Given the description of an element on the screen output the (x, y) to click on. 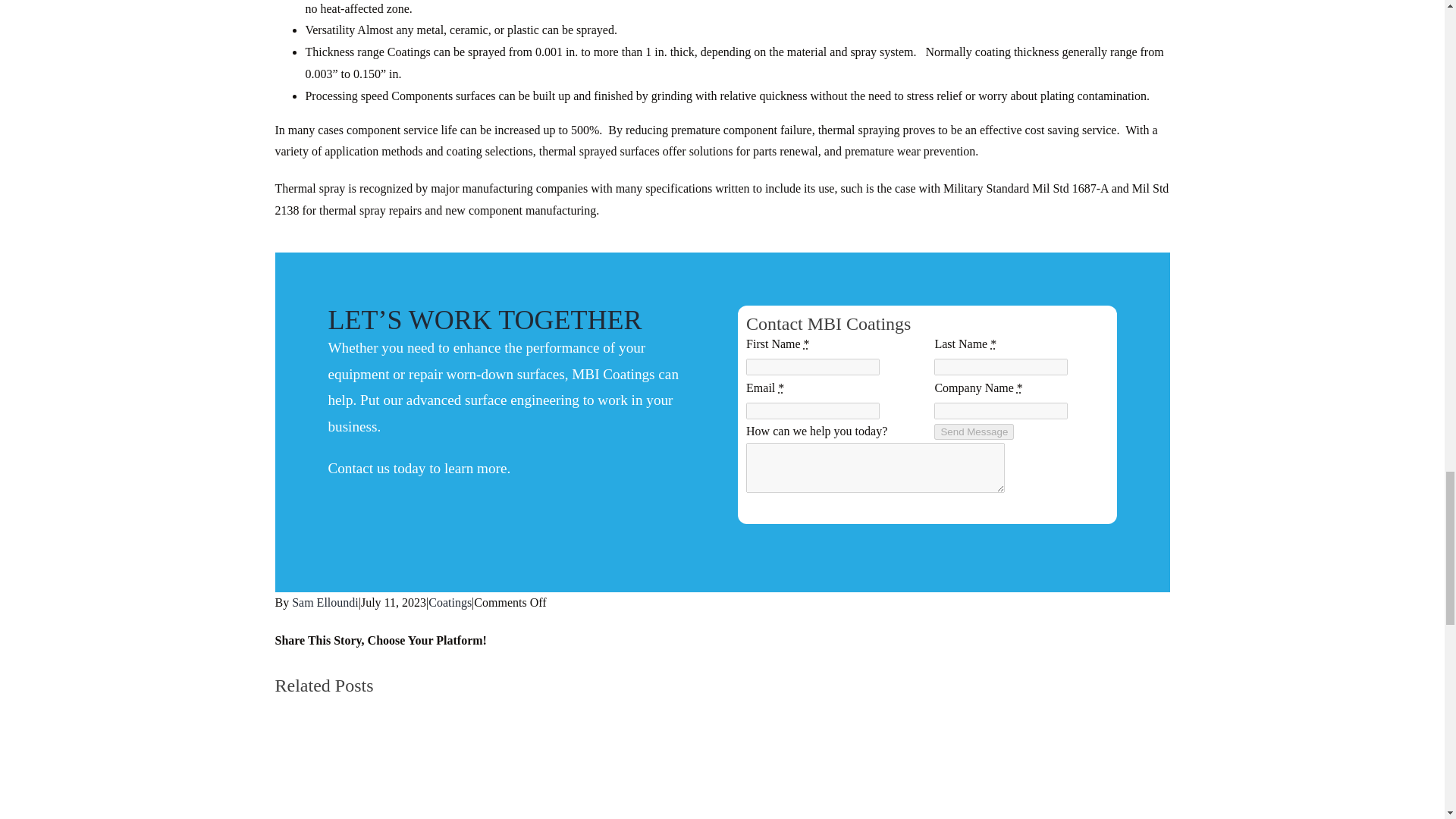
Posts by Sam Elloundi (325, 602)
